Given the description of an element on the screen output the (x, y) to click on. 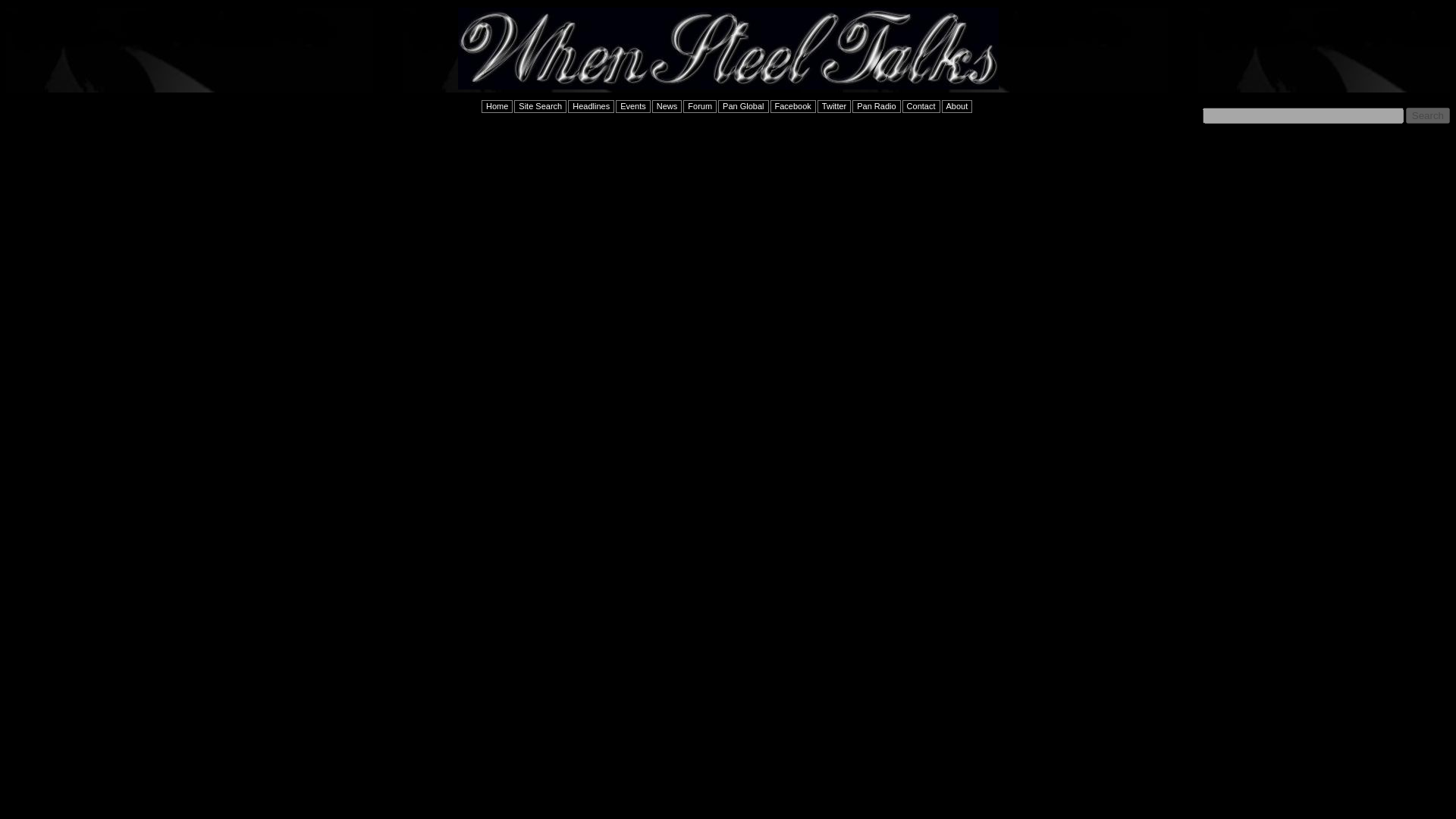
Headlines (590, 106)
Twitter (833, 106)
Facebook (792, 106)
Pan Radio (875, 106)
Site Search (539, 106)
Forum (699, 106)
Contact (921, 106)
Events (632, 106)
News (667, 106)
Pan Global (742, 106)
About (957, 106)
Home (496, 106)
